Given the description of an element on the screen output the (x, y) to click on. 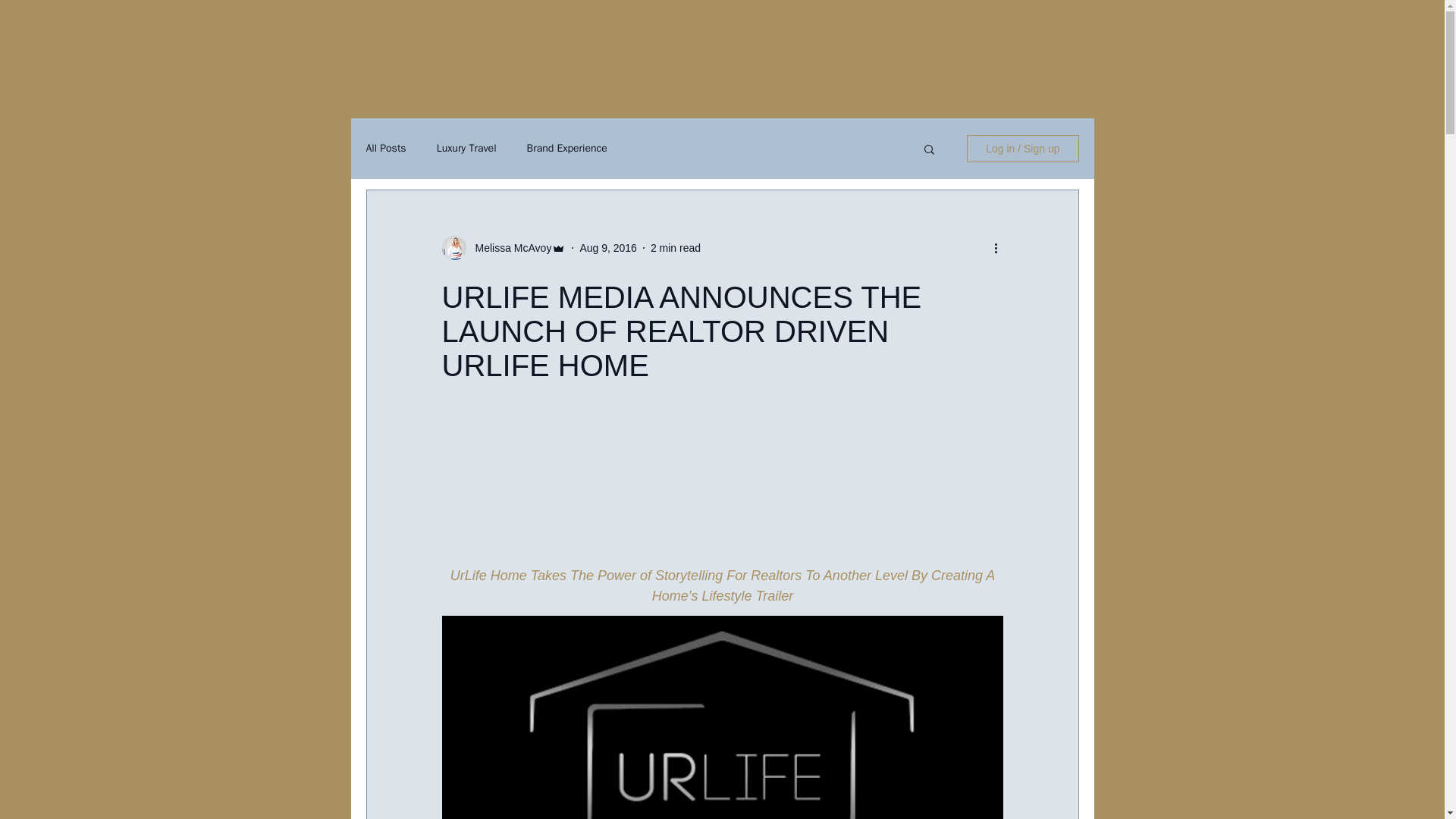
All Posts (385, 148)
Brand Experience (566, 148)
Luxury Travel (466, 148)
Aug 9, 2016 (608, 247)
Melissa McAvoy (508, 247)
2 min read (675, 247)
